Given the description of an element on the screen output the (x, y) to click on. 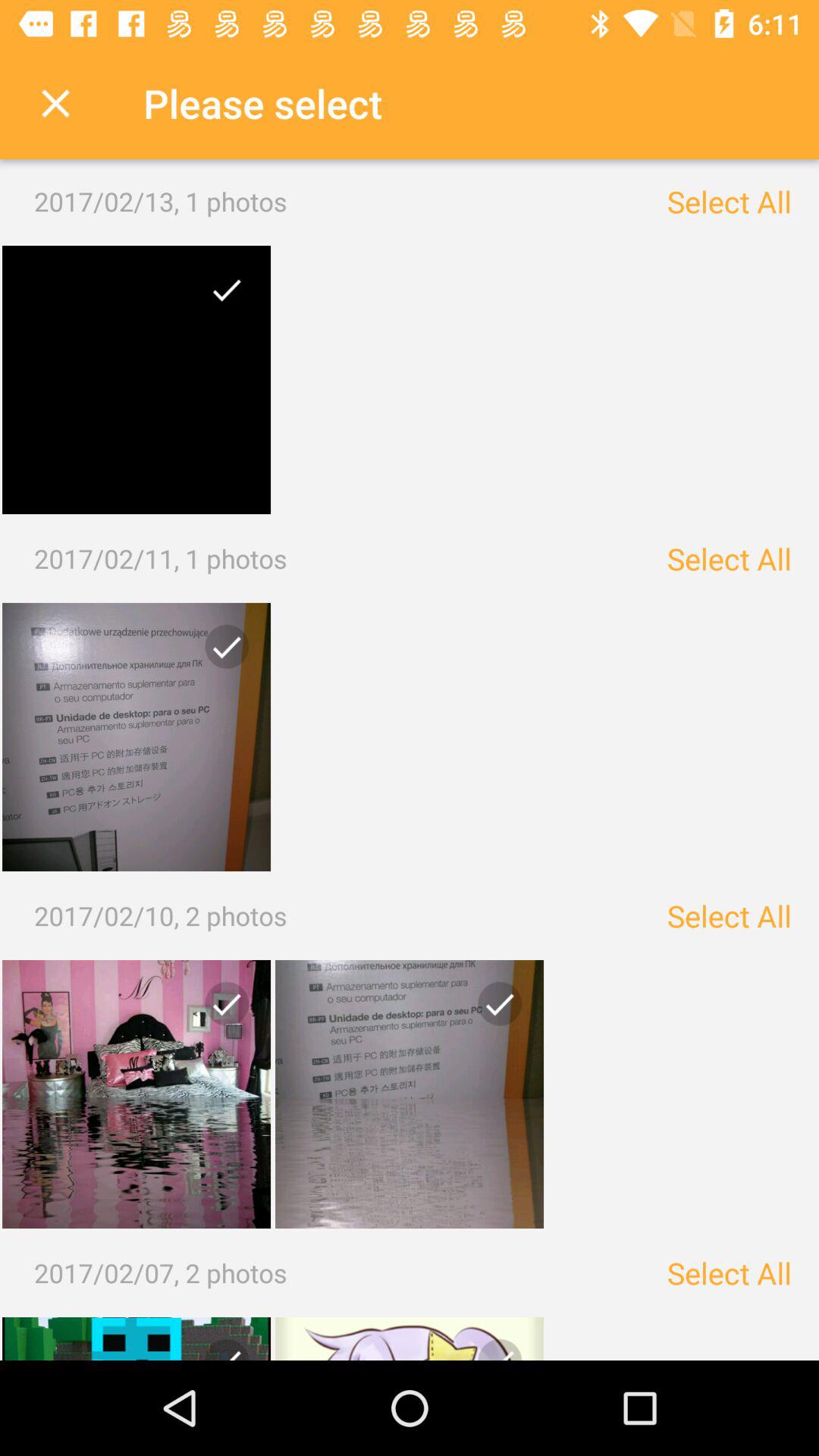
deselect the photo (136, 1094)
